Given the description of an element on the screen output the (x, y) to click on. 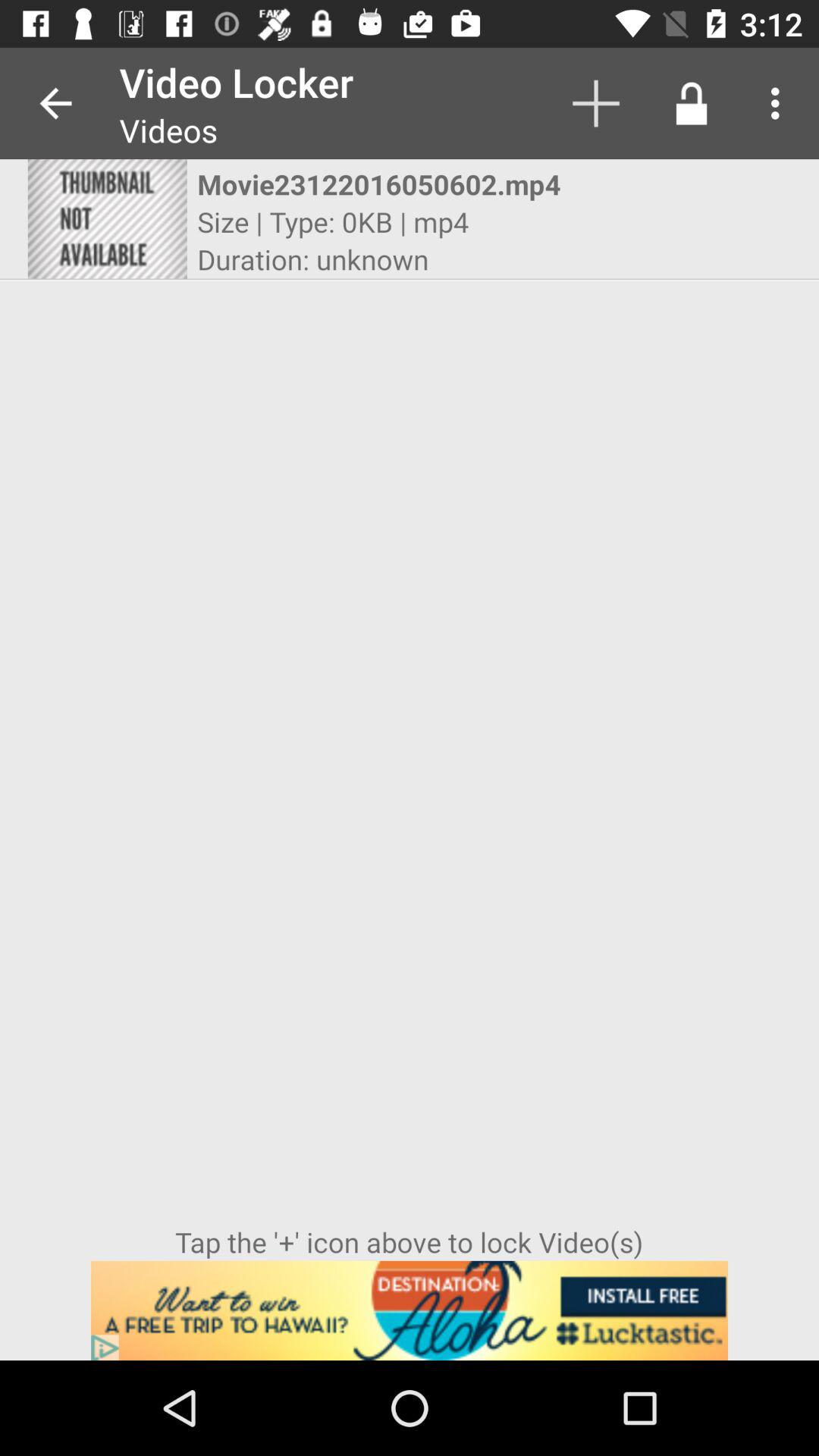
tap the icon above the size type 0kb (396, 184)
